Given the description of an element on the screen output the (x, y) to click on. 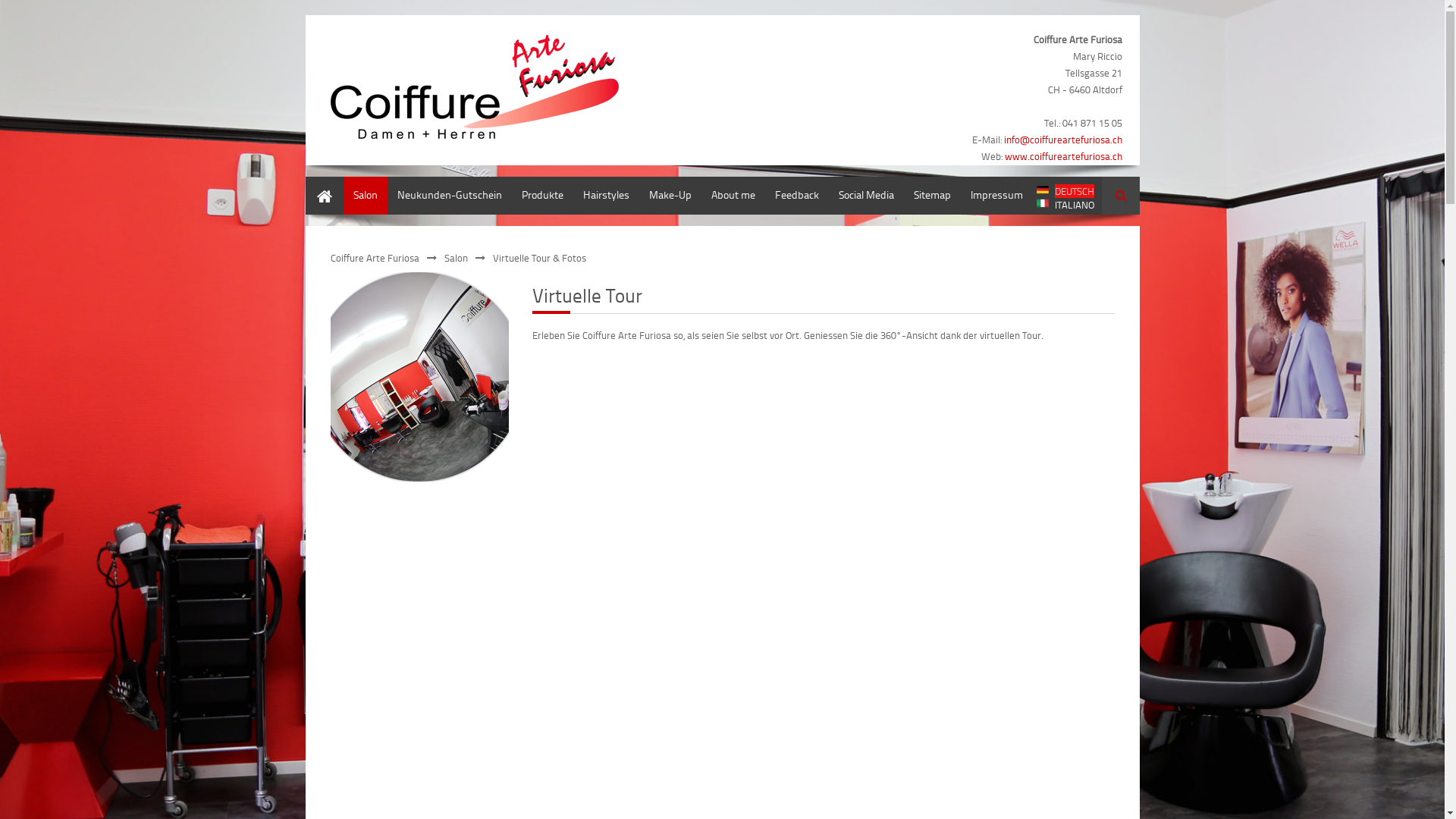
ITALIANO Element type: text (1064, 204)
Hairstyles Element type: text (606, 195)
Impressum Element type: text (996, 195)
Feedback Element type: text (796, 195)
About me Element type: text (732, 195)
Sitemap Element type: text (931, 195)
Suchen Element type: text (1120, 195)
Produkte Element type: text (541, 195)
info@coiffureartefuriosa.ch Element type: text (1063, 139)
Social Media Element type: text (865, 195)
Neukunden-Gutschein Element type: text (448, 195)
Salon Element type: text (455, 257)
www.coiffureartefuriosa.ch Element type: text (1062, 156)
Home Element type: text (323, 195)
Salon Element type: text (364, 195)
Make-Up Element type: text (669, 195)
Coiffure Arte Furiosa Element type: text (374, 257)
